Given the description of an element on the screen output the (x, y) to click on. 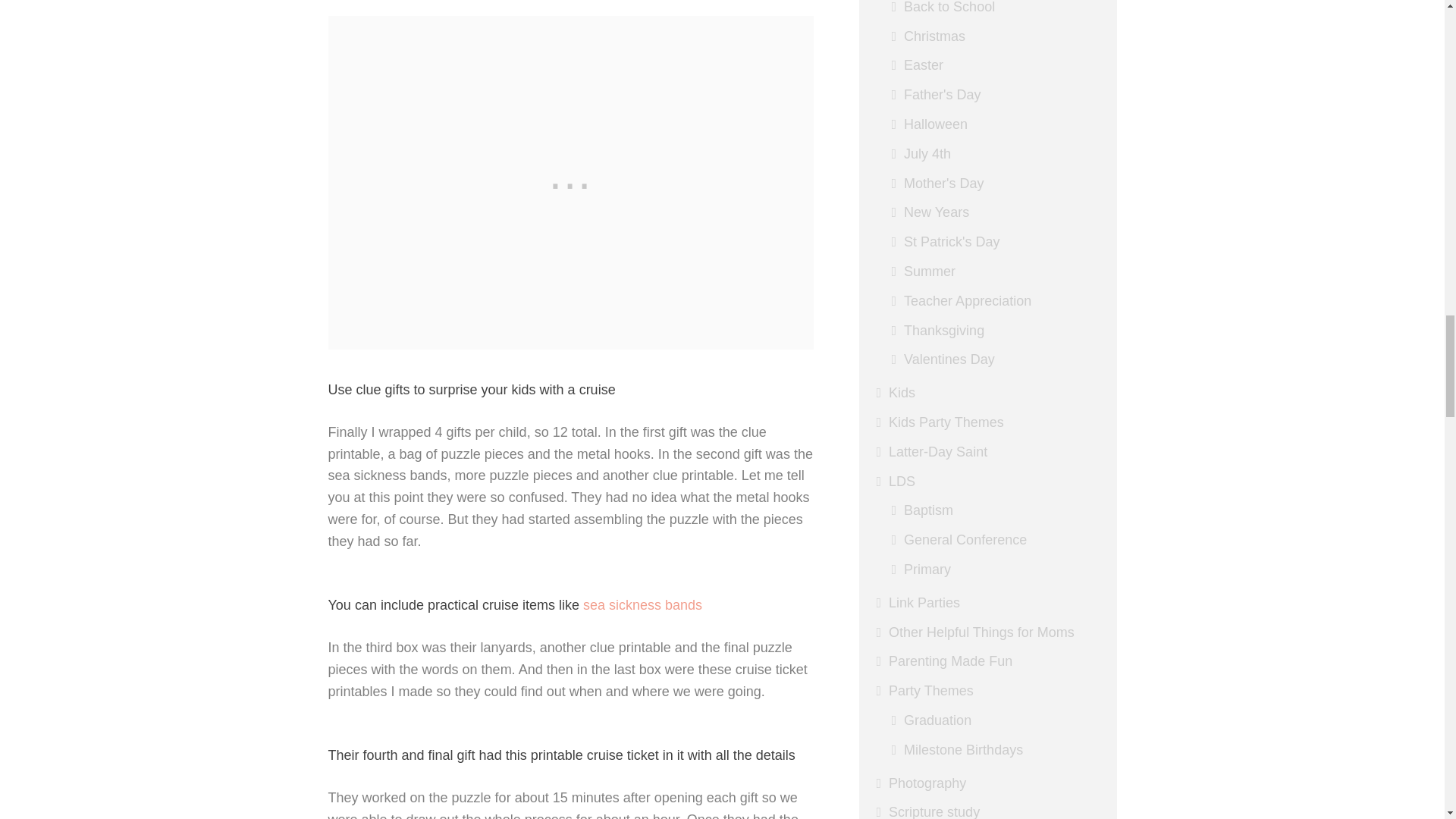
sea sickness bands (642, 604)
